Given the description of an element on the screen output the (x, y) to click on. 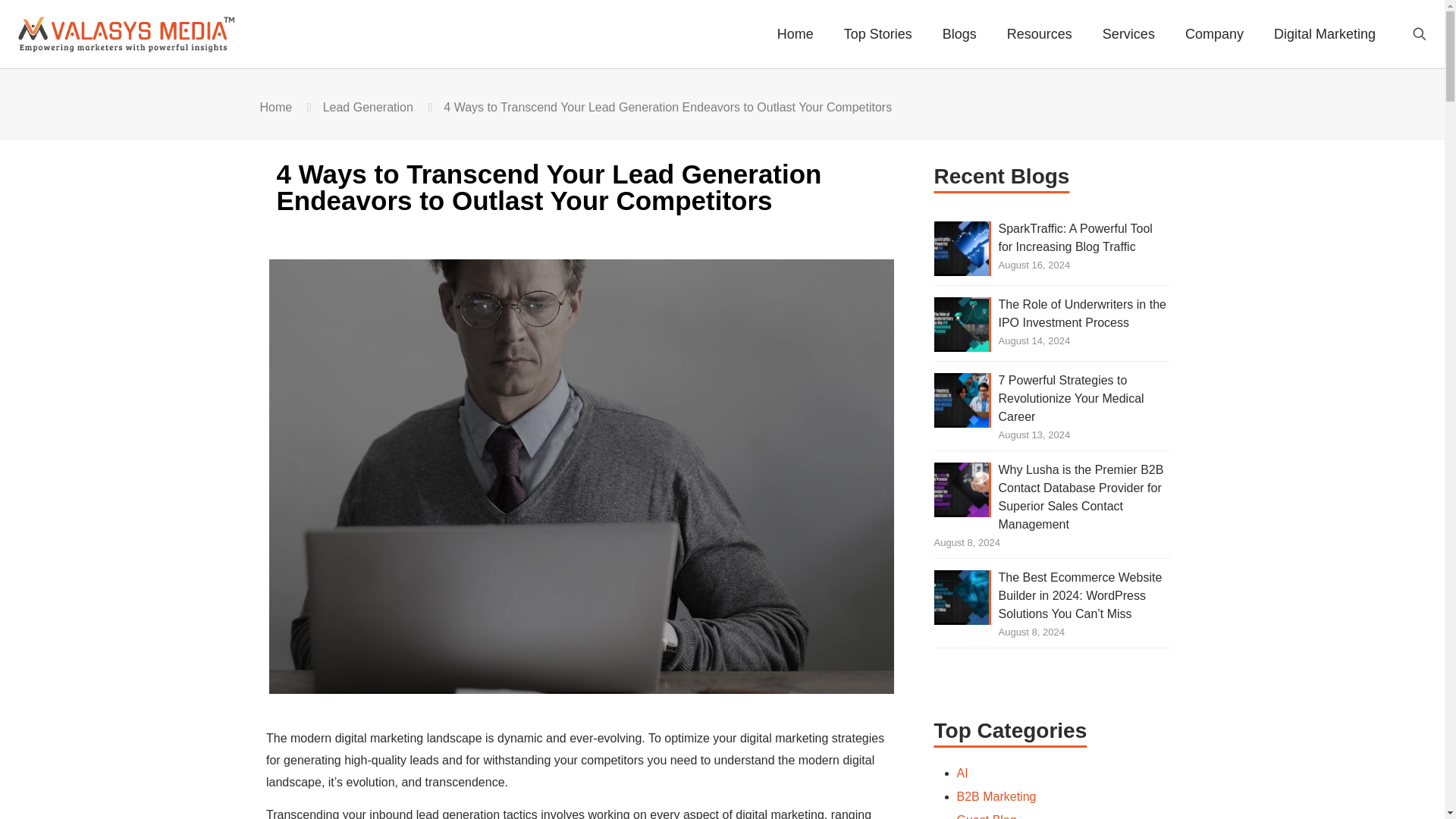
Top Stories (877, 33)
Home (275, 106)
Lead Generation (368, 106)
Services (1128, 33)
Blogs (959, 33)
Valasys Media (135, 33)
Home (794, 33)
Company (1214, 33)
Resources (1039, 33)
